Given the description of an element on the screen output the (x, y) to click on. 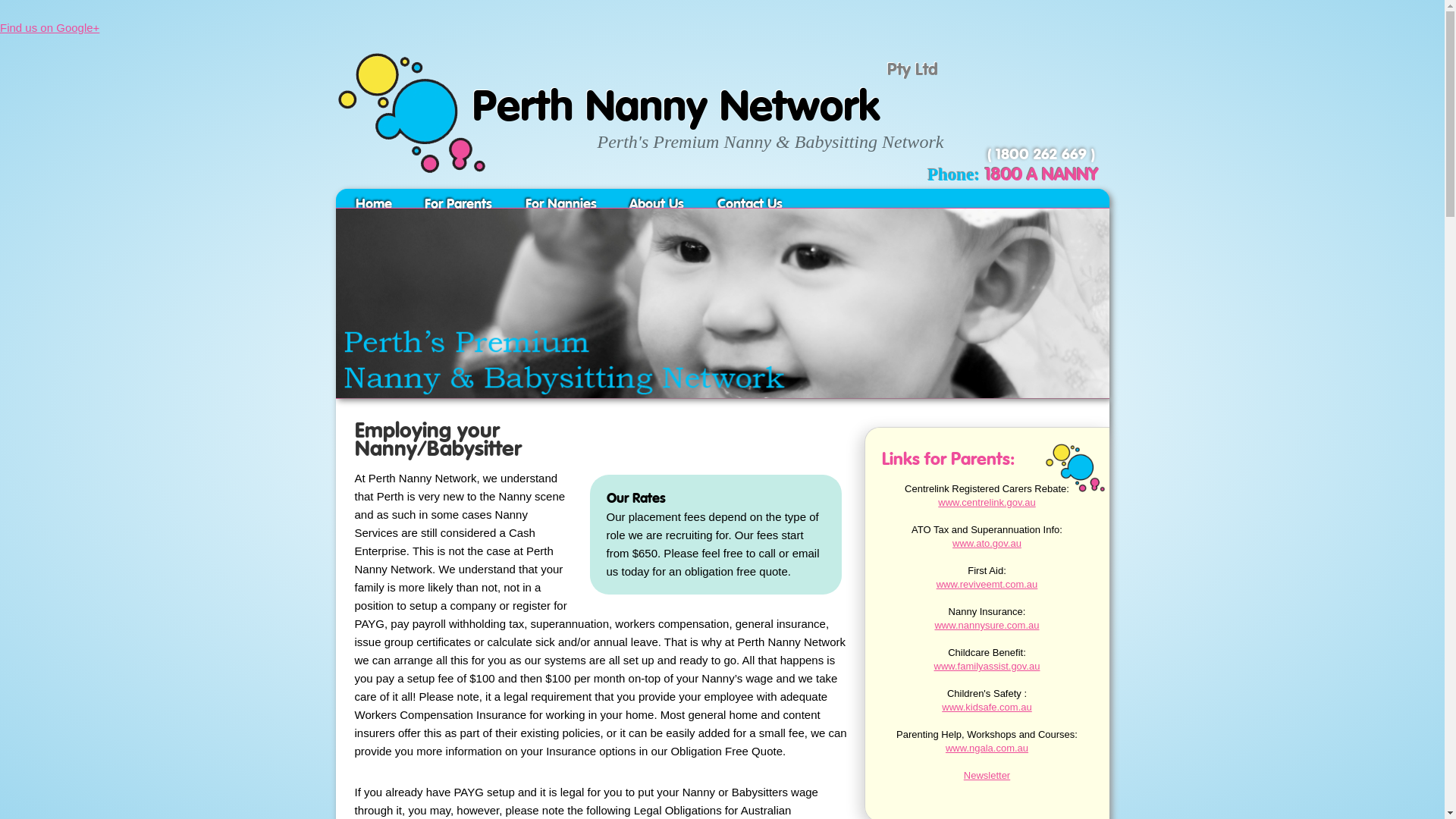
Contact Us Element type: text (749, 204)
About Us Element type: text (656, 204)
www.nannysure.com.au Element type: text (986, 624)
For Nannies Element type: text (560, 204)
www.centrelink.gov.au Element type: text (986, 502)
www.ato.gov.au Element type: text (986, 543)
Home Element type: text (372, 204)
www.kidsafe.com.au Element type: text (986, 706)
www.reviveemt.com.au Element type: text (987, 583)
Perth Nanny Network
Pty Ltd Element type: text (410, 181)
For Parents Element type: text (458, 204)
www.ngala.com.au Element type: text (986, 747)
www.familyassist.gov.au Element type: text (987, 665)
Newsletter Element type: text (986, 775)
nanny-network-logo Element type: hover (1074, 467)
Find us on Google+ Element type: text (49, 27)
